Given the description of an element on the screen output the (x, y) to click on. 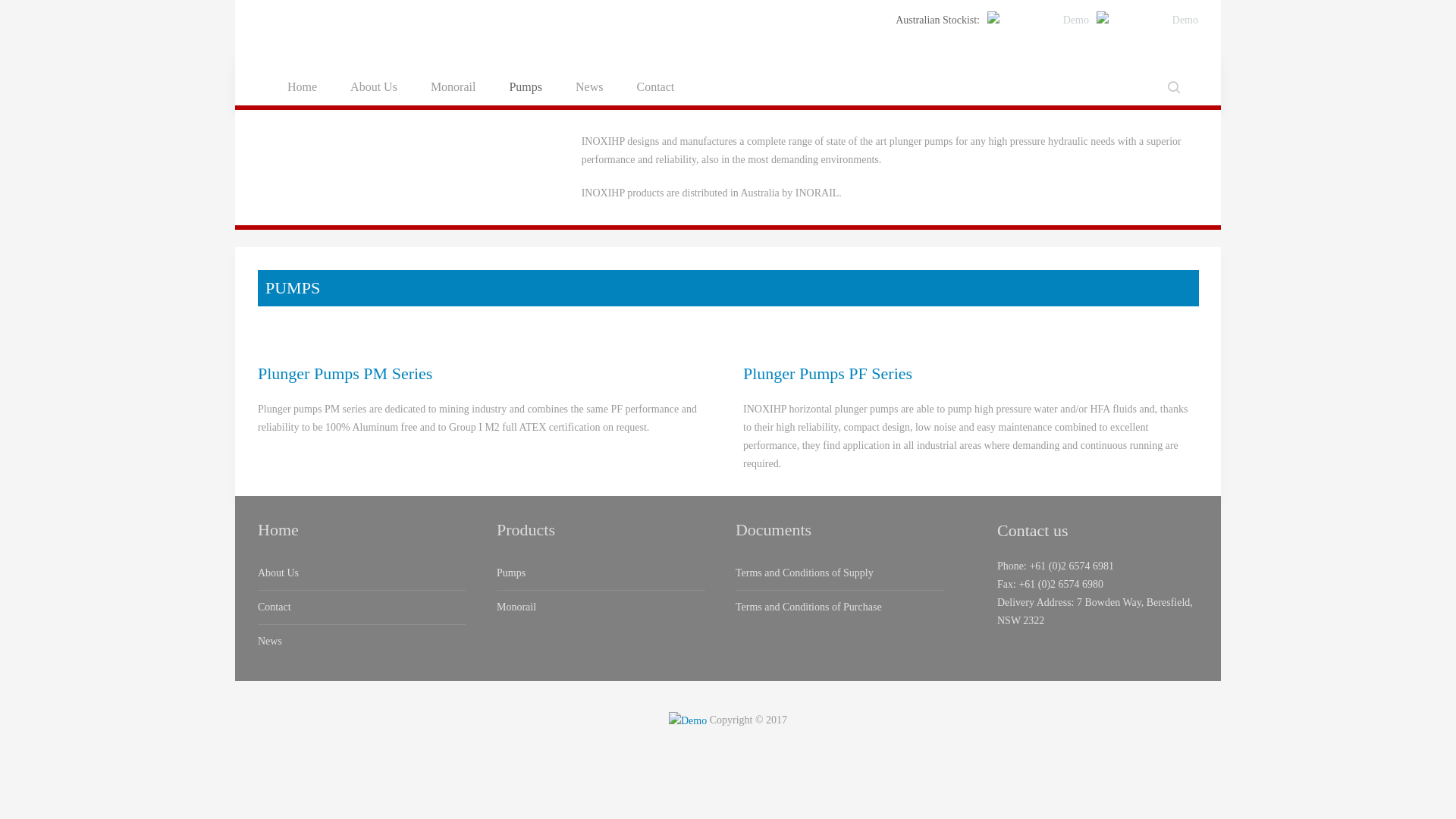
Contact Element type: text (361, 606)
Home Element type: text (277, 529)
About Us Element type: text (373, 87)
News Element type: text (361, 641)
Plunger Pumps PM Series Element type: text (344, 373)
Terms and Conditions of Supply Element type: text (839, 572)
Contact Element type: text (654, 87)
Plunger Pumps PF Series Element type: text (827, 373)
About Us Element type: text (361, 572)
News Element type: text (588, 87)
Terms and Conditions of Purchase Element type: text (839, 606)
Home Element type: text (301, 87)
Monorail Element type: text (600, 606)
Monorail Element type: text (453, 87)
Contact us Element type: text (1032, 529)
Pumps Element type: text (600, 572)
Pumps Element type: text (525, 87)
